Given the description of an element on the screen output the (x, y) to click on. 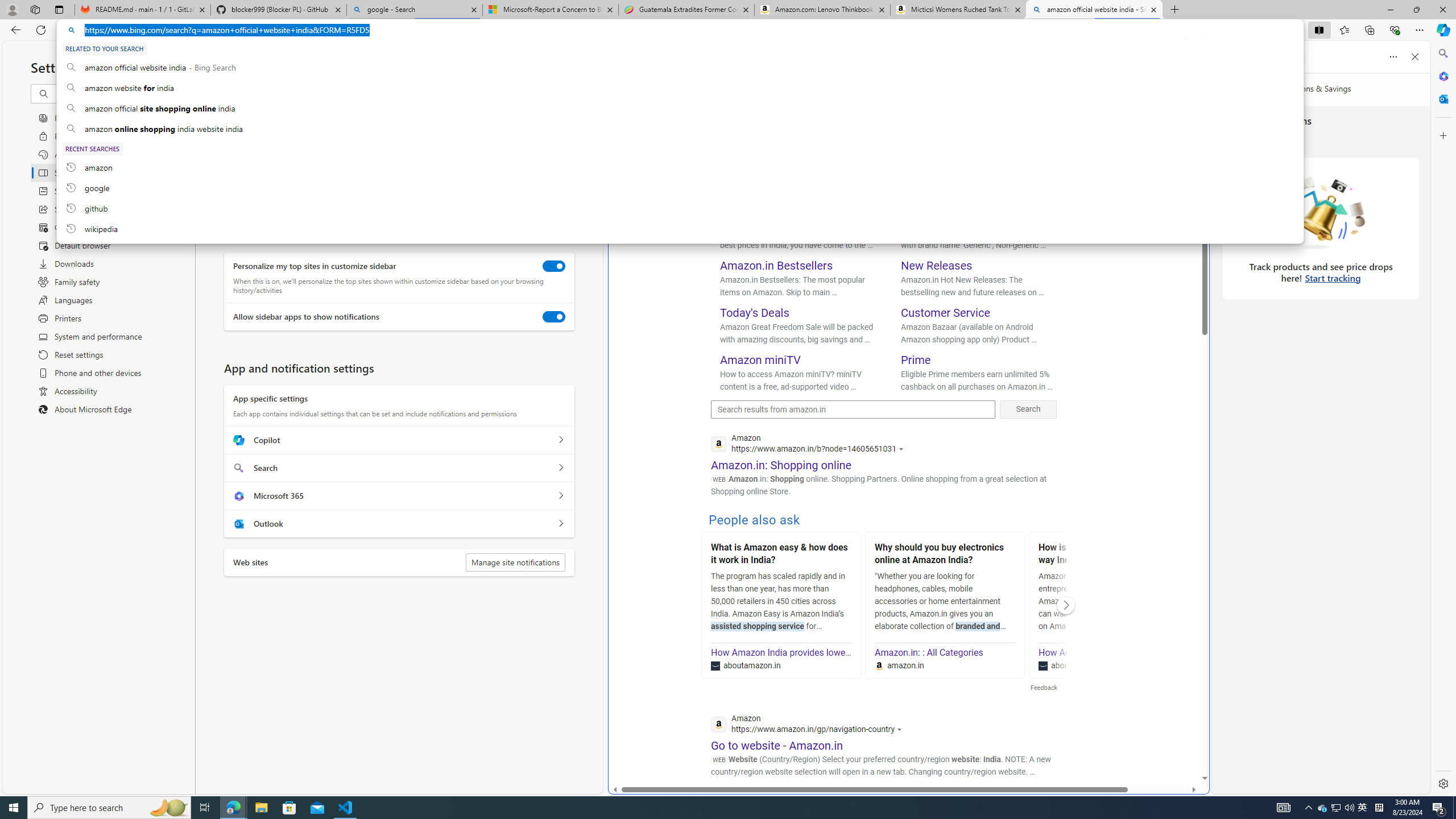
Search button (713, 66)
What is Amazon easy & how does it work in India? (780, 555)
Search using voice (1032, 66)
Allow sidebar apps to show notifications (553, 316)
Go to website - Amazon.in (776, 745)
Amazon.in: : All Categories (928, 652)
wikipedia, recent searches from history (679, 228)
